Given the description of an element on the screen output the (x, y) to click on. 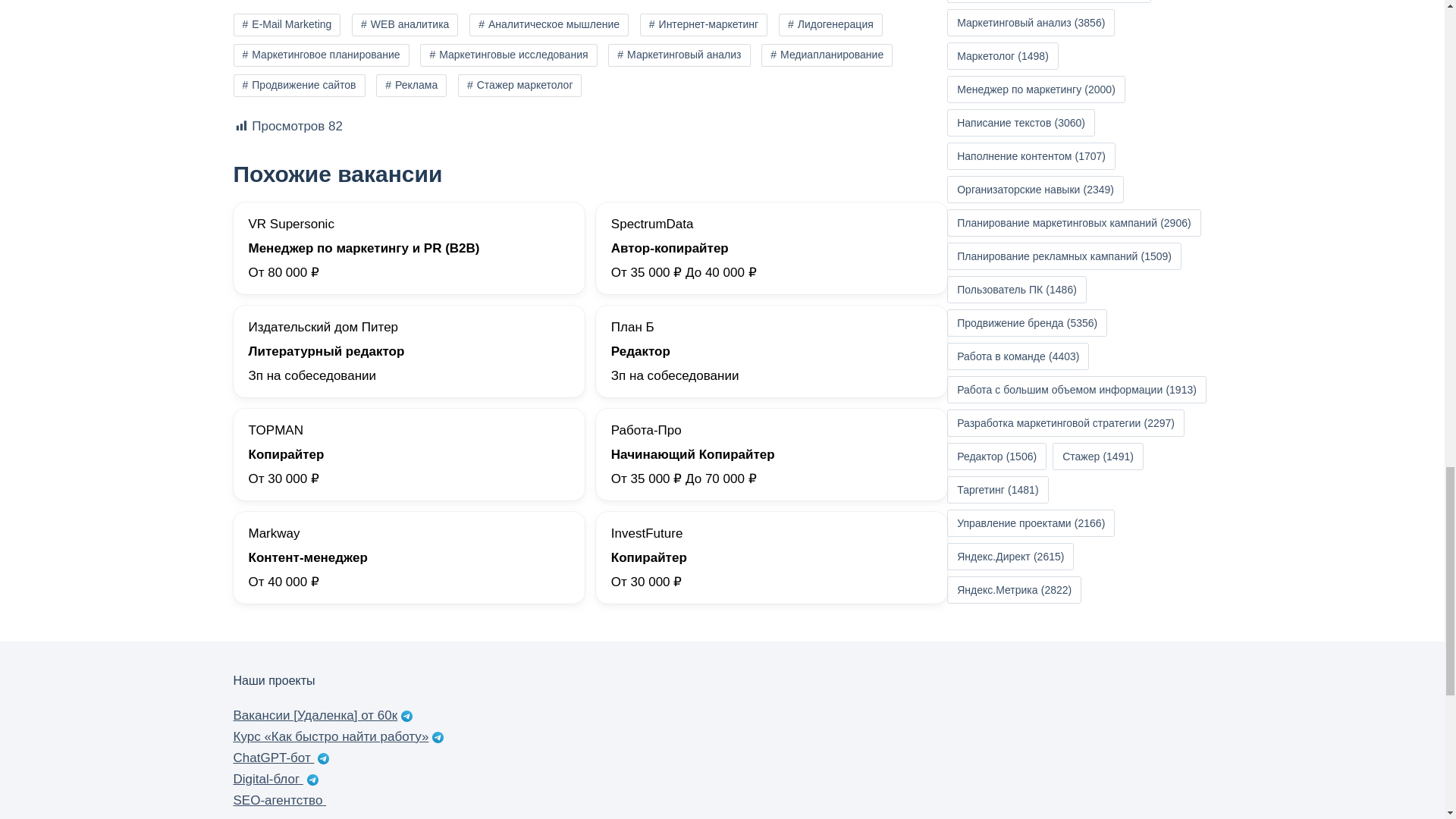
E-Mail Marketing (286, 24)
